Given the description of an element on the screen output the (x, y) to click on. 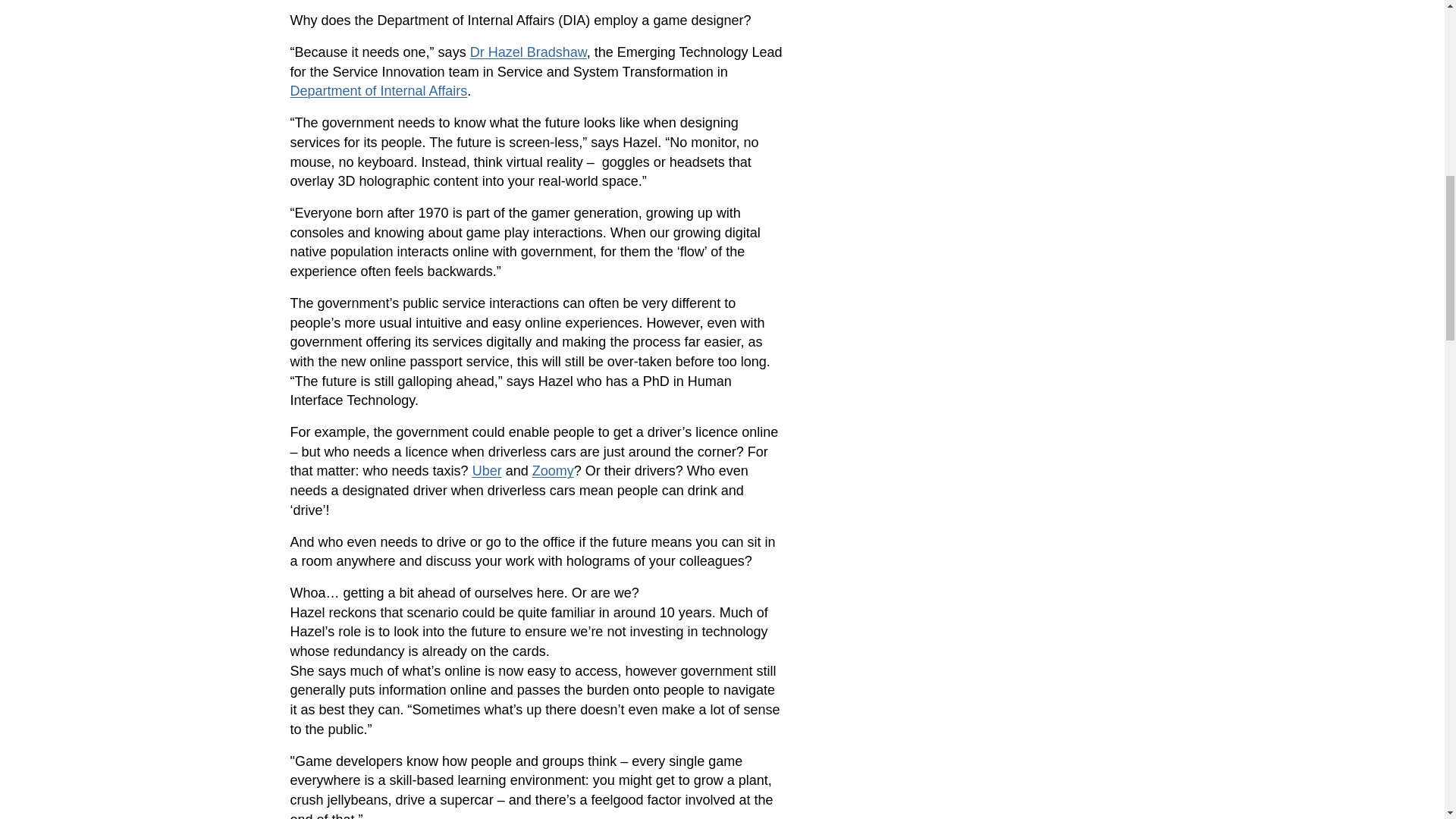
Dr Hazel Bradshaw (528, 52)
Department of Internal Affairs (378, 90)
Go to Hazels' LinkedIn Profile (528, 52)
Uber (486, 470)
Zoomy (552, 470)
